Given the description of an element on the screen output the (x, y) to click on. 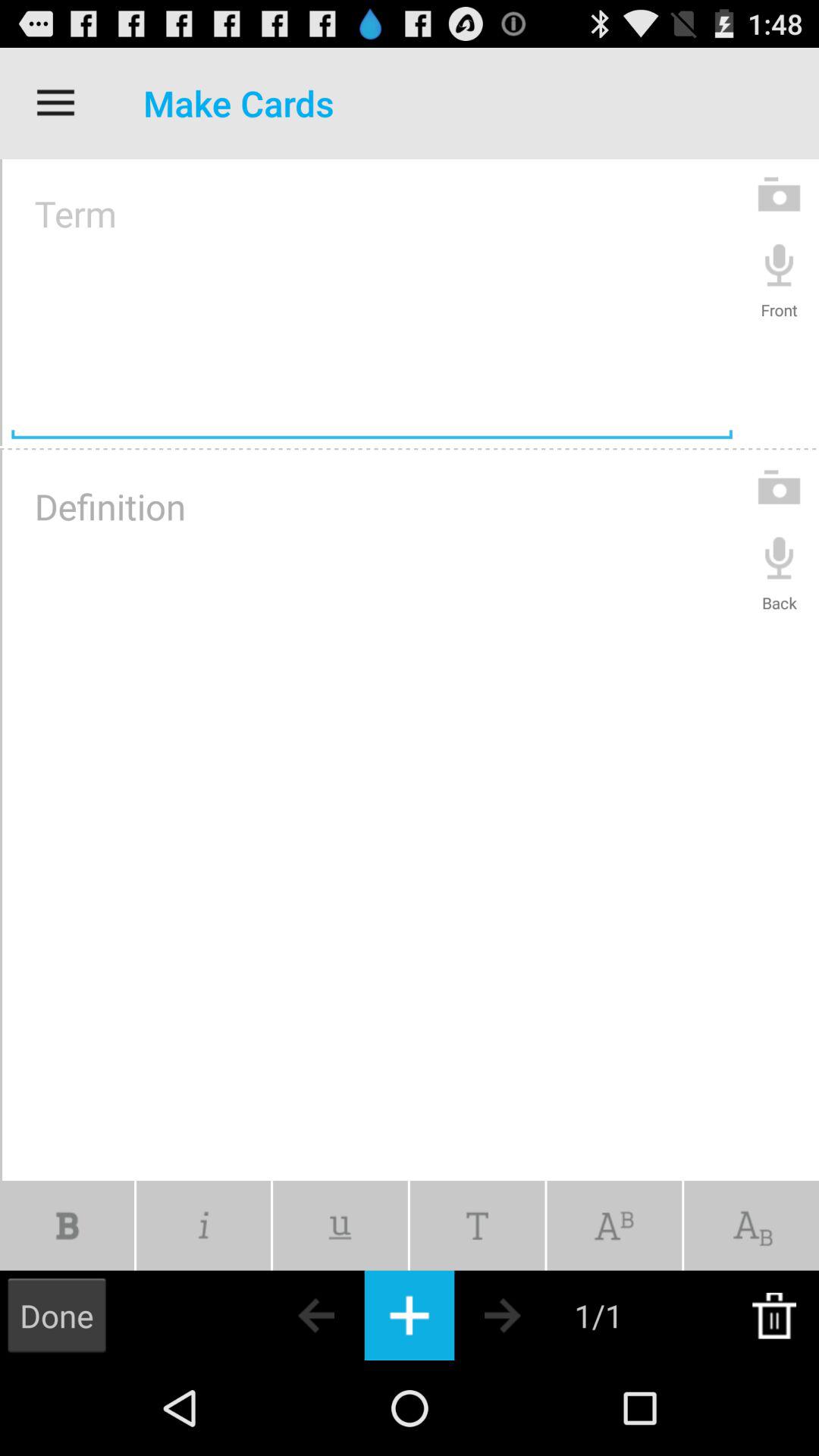
go to next option (529, 1315)
